Given the description of an element on the screen output the (x, y) to click on. 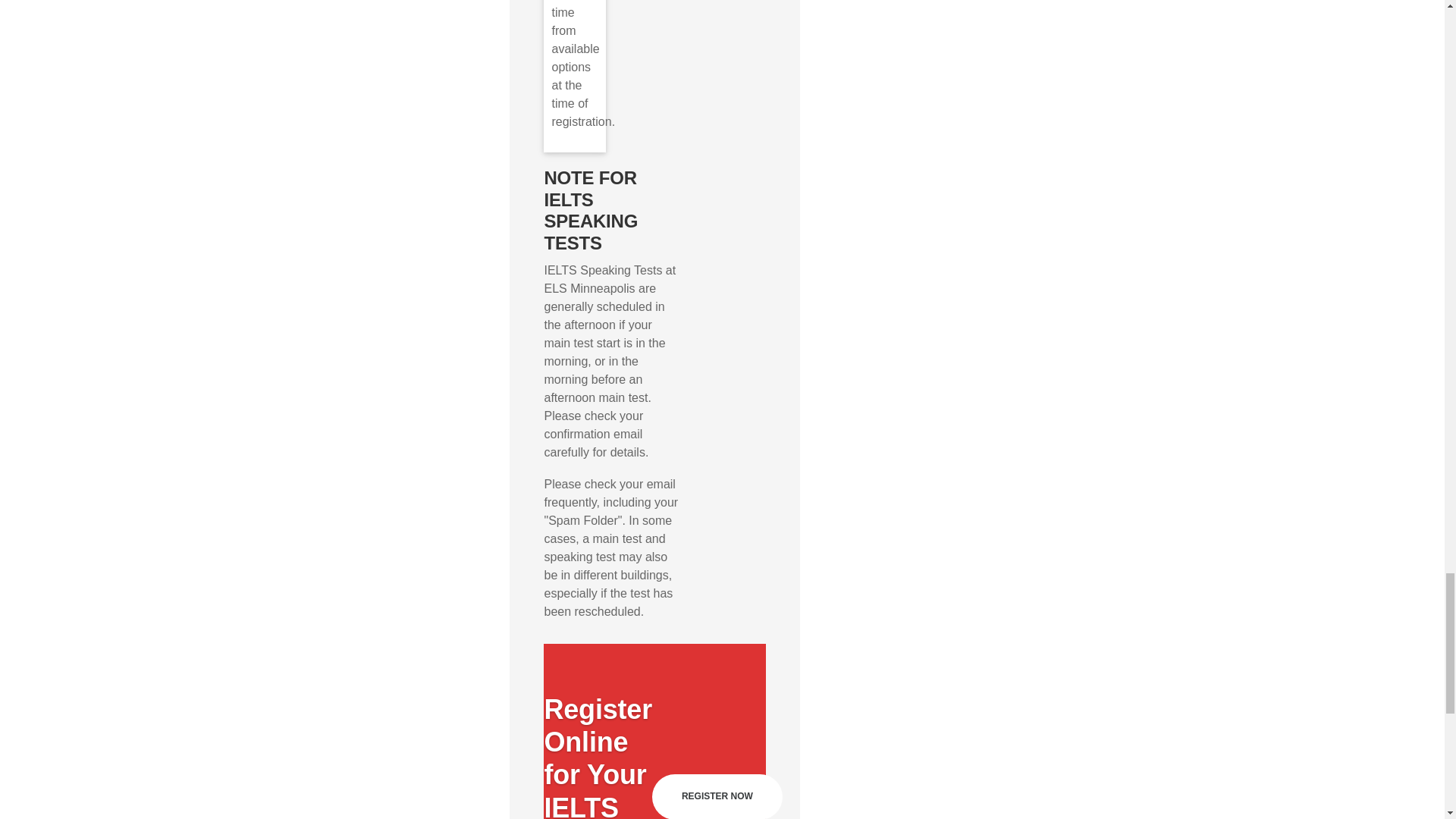
REGISTER NOW (717, 796)
